Given the description of an element on the screen output the (x, y) to click on. 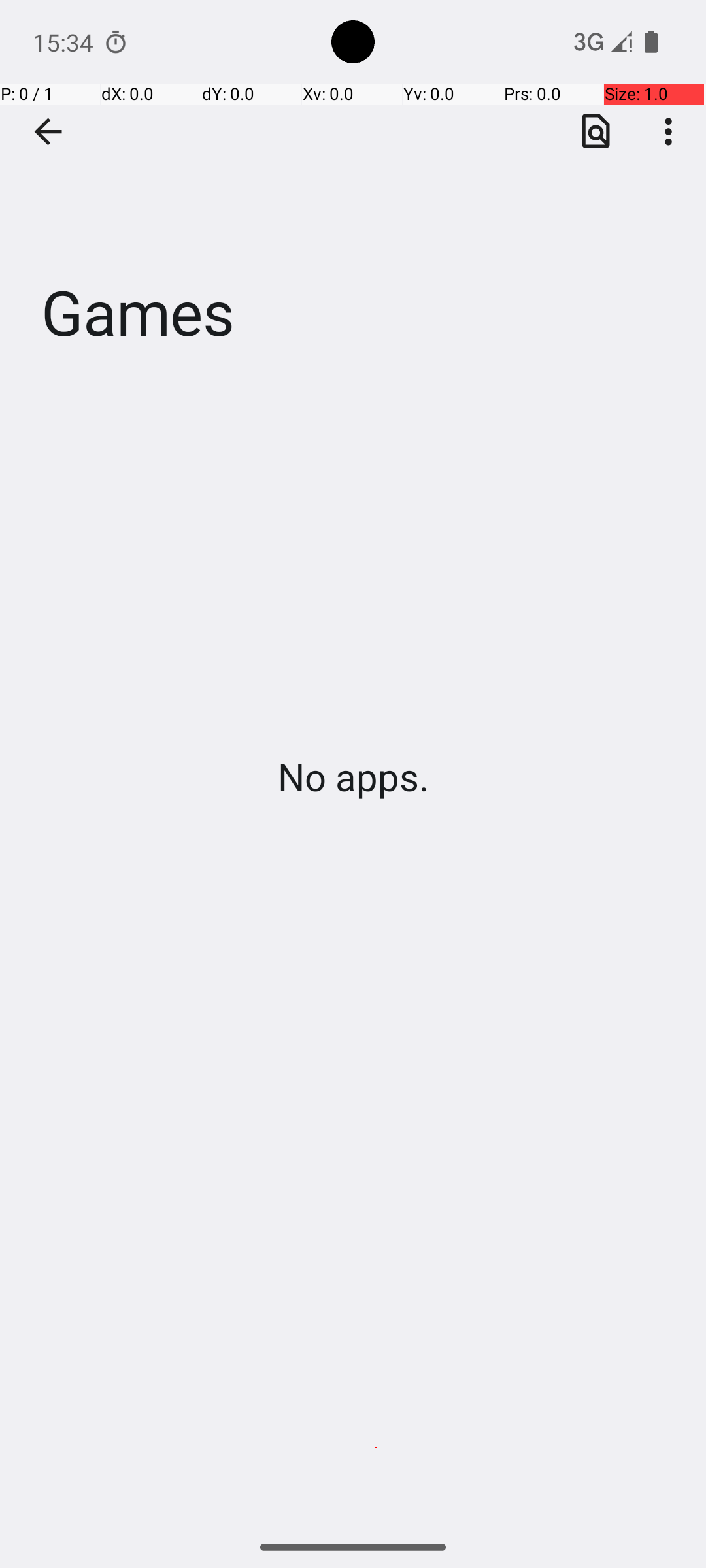
No apps. Element type: android.widget.TextView (353, 776)
